Given the description of an element on the screen output the (x, y) to click on. 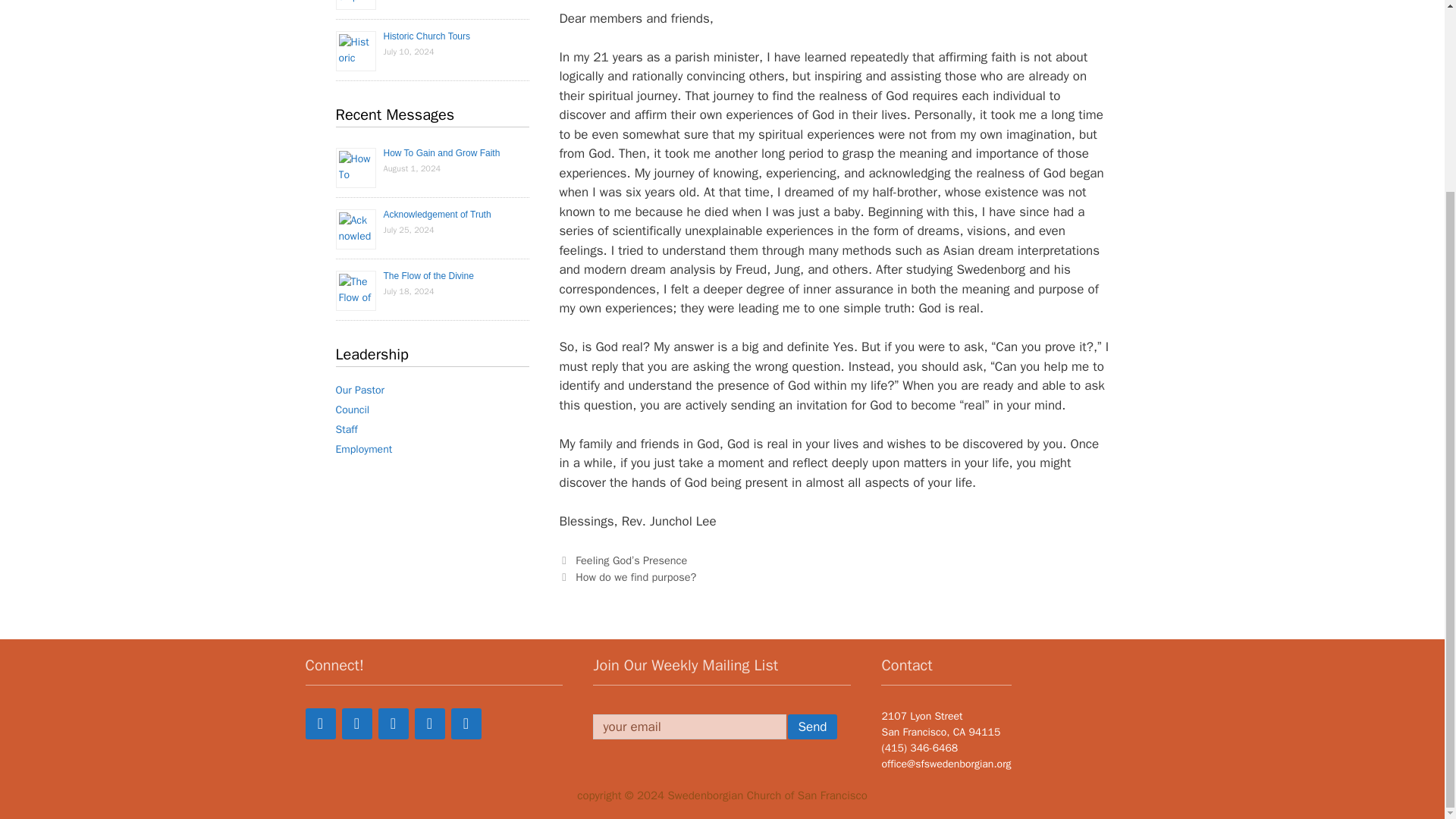
Instagram (464, 723)
Facebook (319, 723)
Send (811, 727)
your email (689, 727)
Twitter (355, 723)
YouTube (428, 723)
Yelp (392, 723)
